Given the description of an element on the screen output the (x, y) to click on. 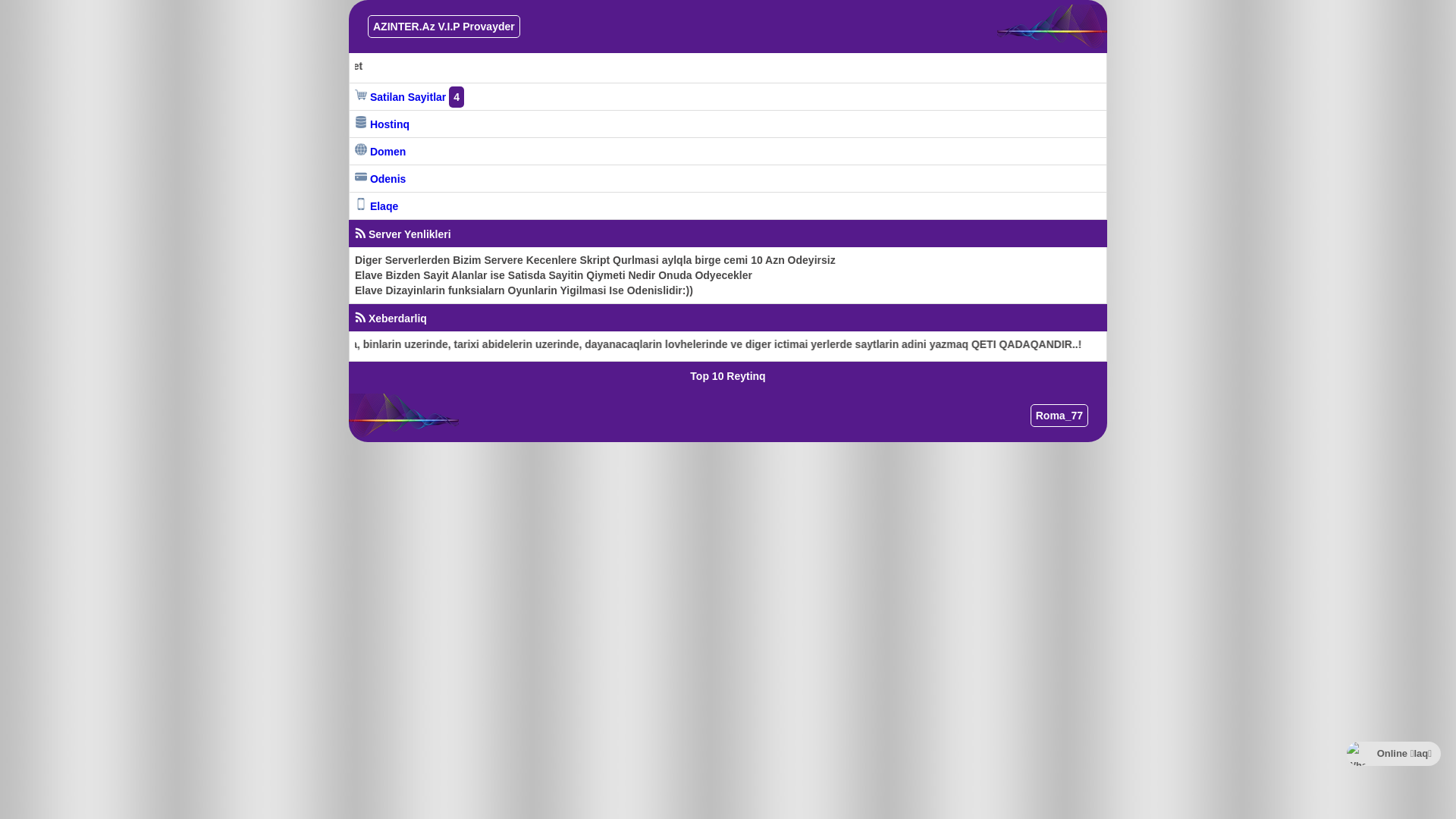
Elaqe Element type: text (376, 206)
Hostinq Element type: text (381, 124)
Odenis Element type: text (379, 178)
Domen Element type: text (379, 151)
Satilan Sayitlar Element type: text (399, 97)
